Given the description of an element on the screen output the (x, y) to click on. 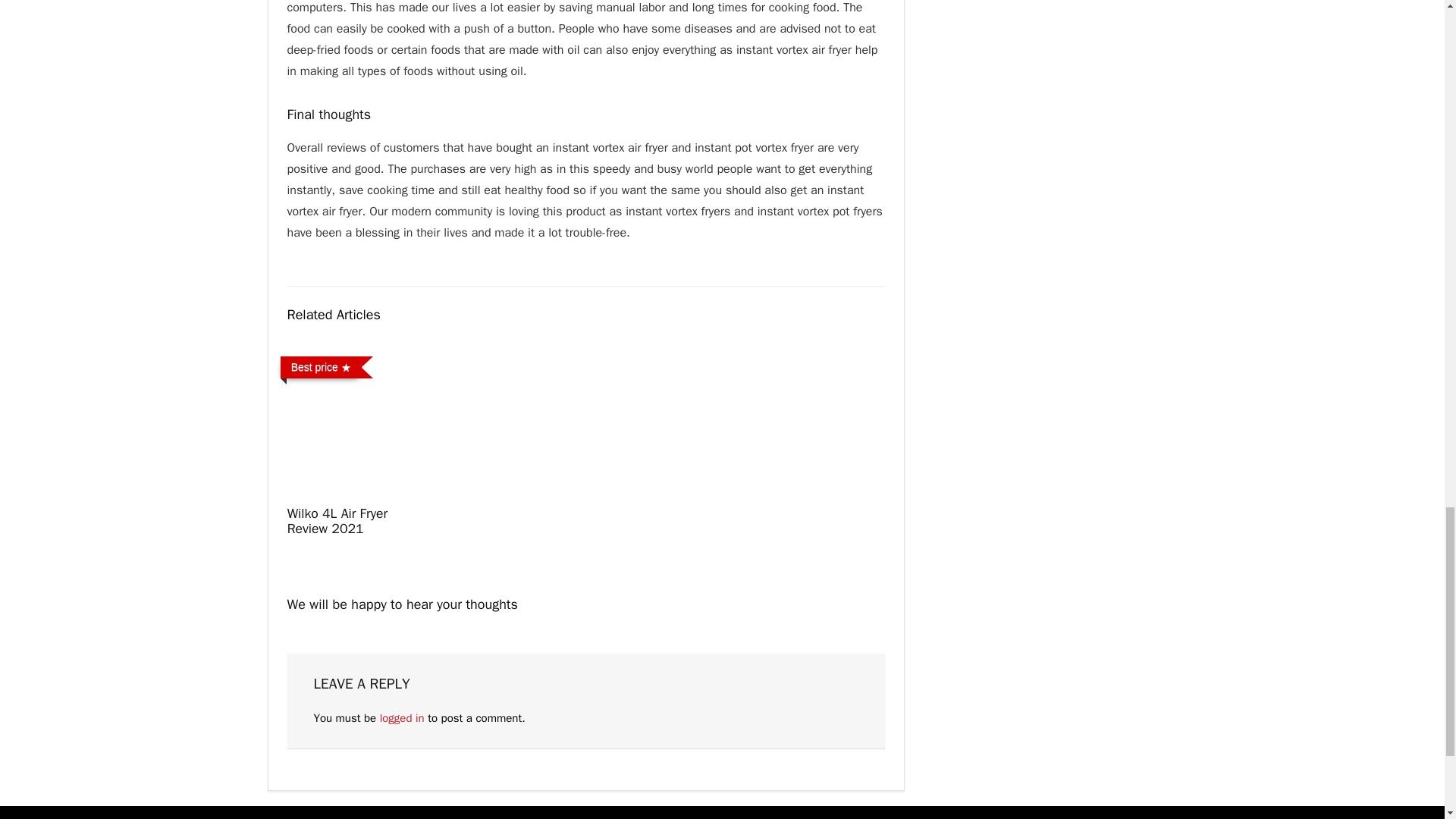
Wilko 4L Air Fryer Review 2021 (337, 521)
logged in (402, 717)
